Given the description of an element on the screen output the (x, y) to click on. 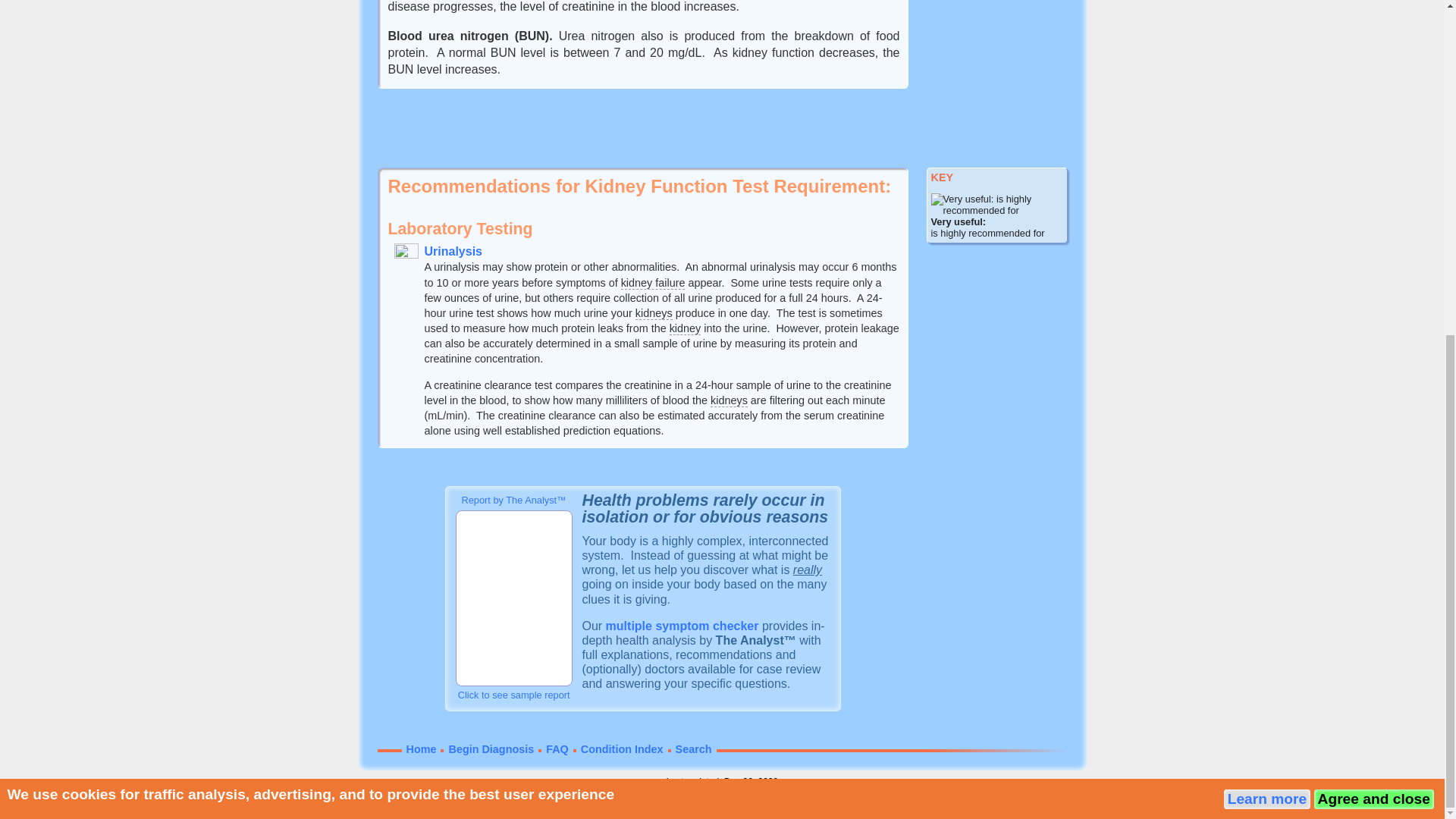
Begin Diagnosis (491, 748)
kidneys (653, 313)
Learn more (1267, 236)
Home (421, 748)
FAQ (557, 748)
kidneys (729, 400)
Search (693, 748)
Urinalysis (453, 250)
kidney (685, 328)
multiple symptom checker (681, 625)
kidney failure (653, 282)
Begin Symptom Entry (681, 625)
Agree and close (1373, 236)
Condition Index (621, 748)
